Given the description of an element on the screen output the (x, y) to click on. 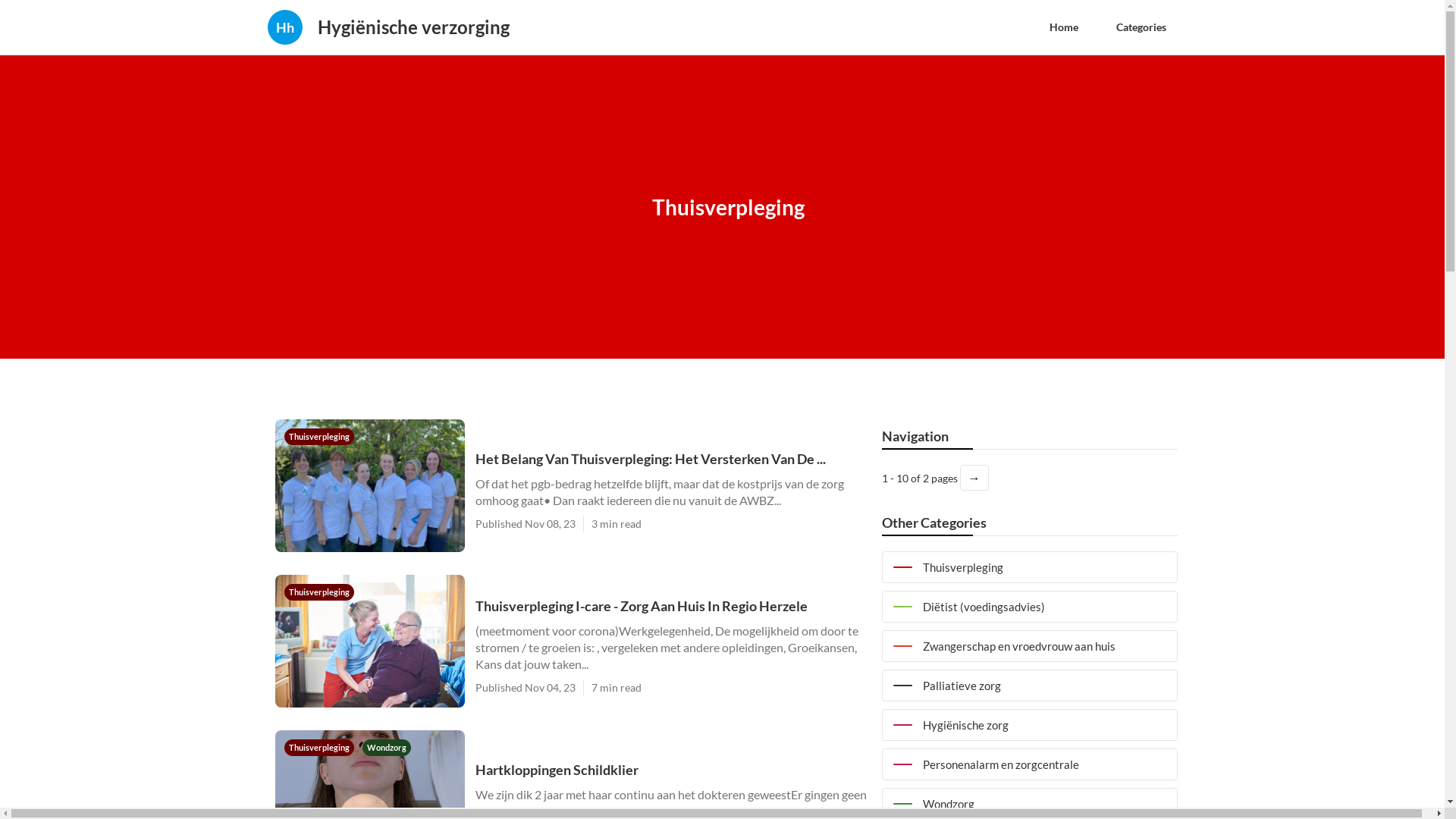
Hartkloppingen Schildklier Element type: text (670, 768)
Thuisverpleging Element type: text (318, 590)
Het Belang Van Thuisverpleging: Het Versterken Van De ... Element type: text (670, 457)
Thuisverpleging Element type: text (318, 435)
Thuisverpleging Element type: text (319, 746)
Wondzorg Element type: text (386, 746)
Thuisverpleging Element type: text (1028, 567)
Palliatieve zorg Element type: text (1028, 685)
Zwangerschap en vroedvrouw aan huis Element type: text (1028, 646)
Home Element type: text (1062, 26)
Personenalarm en zorgcentrale Element type: text (1028, 764)
Categories Element type: text (1140, 26)
Thuisverpleging I-care - Zorg Aan Huis In Regio Herzele Element type: text (670, 605)
